Given the description of an element on the screen output the (x, y) to click on. 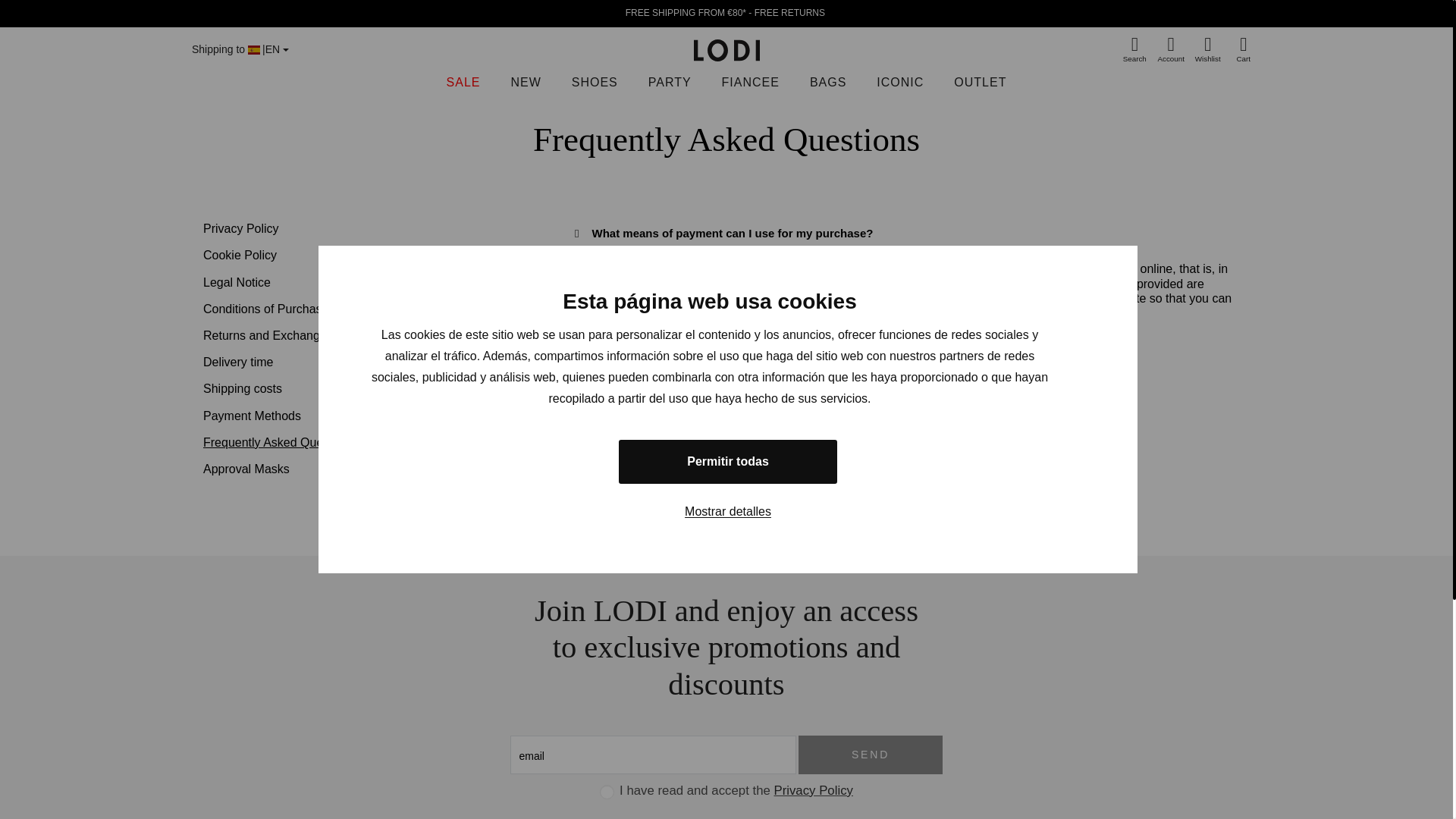
Mostrar detalles (727, 511)
Permitir todas (727, 461)
